Given the description of an element on the screen output the (x, y) to click on. 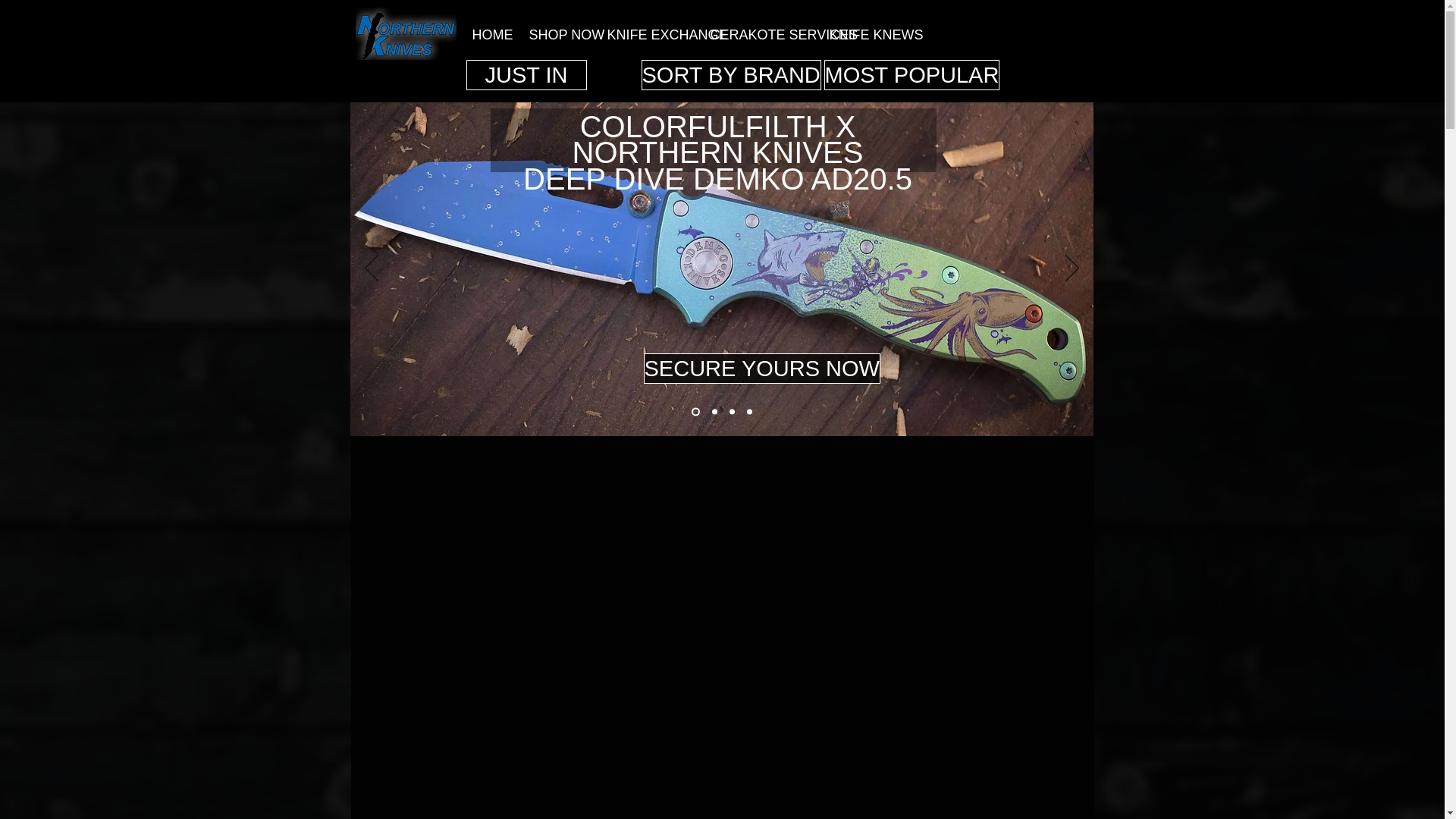
JUST IN (525, 74)
KNIFE KNEWS (860, 33)
SORT BY BRAND (731, 74)
SECURE YOURS NOW (761, 368)
SHOP NOW (555, 33)
HOME (489, 33)
KNIFE EXCHANGE (646, 33)
MOST POPULAR (911, 74)
CERAKOTE SERVICES (758, 33)
